Given the description of an element on the screen output the (x, y) to click on. 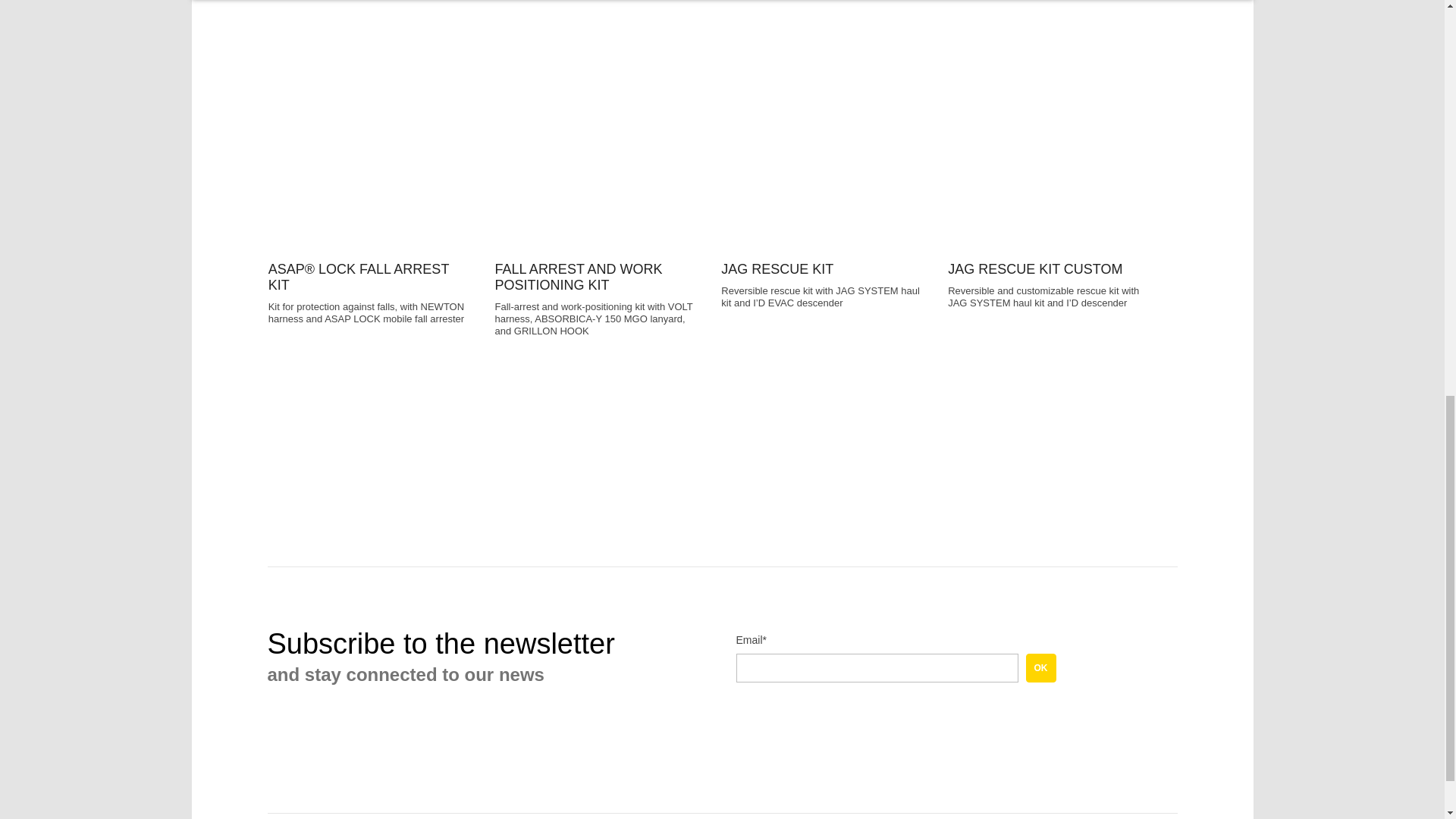
JAG RESCUE KIT CUSTOM (1050, 164)
FALL ARREST AND WORK POSITIONING KIT (596, 164)
JAG RESCUE KIT (823, 164)
